Given the description of an element on the screen output the (x, y) to click on. 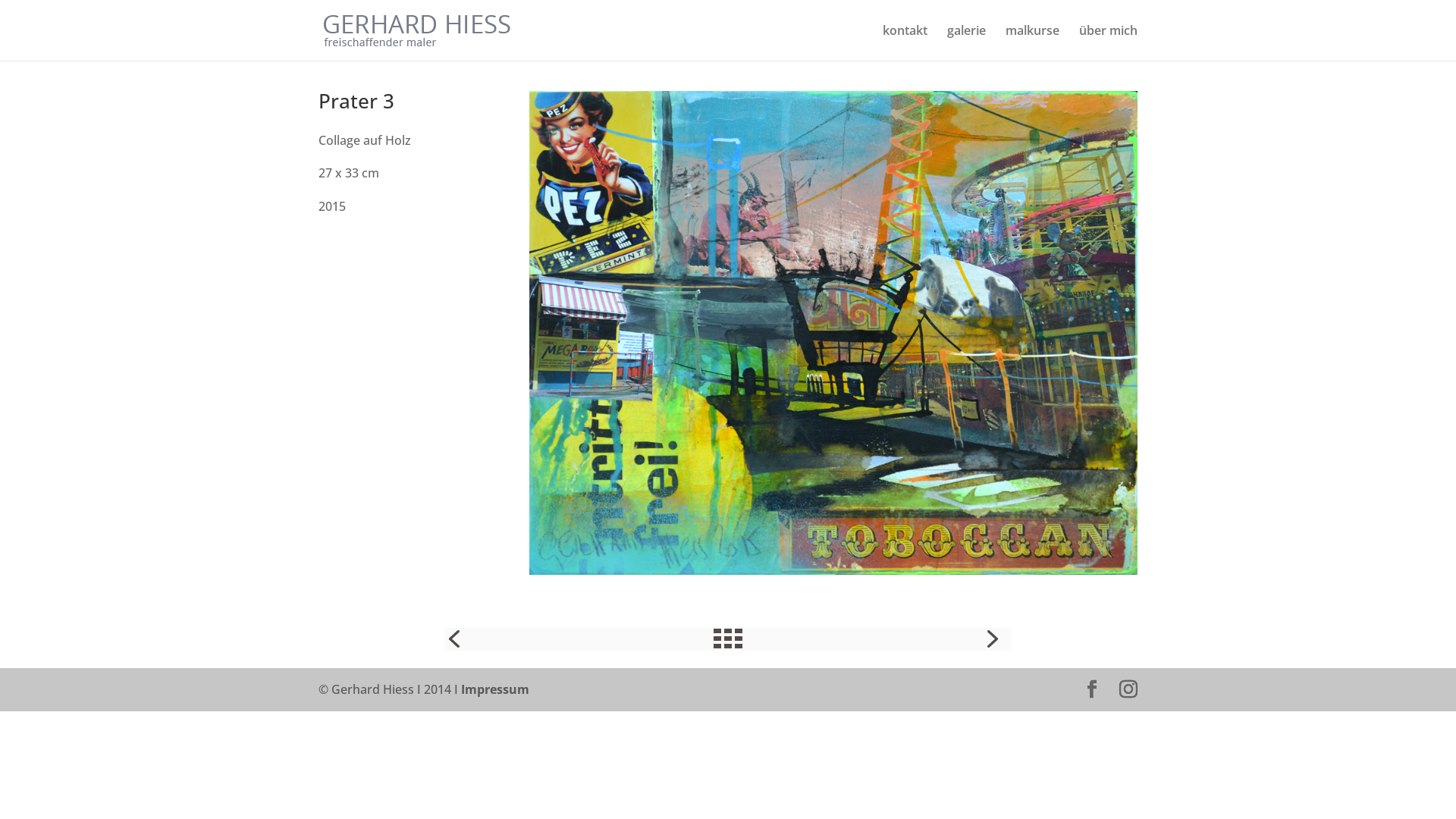
Impressum Element type: text (495, 688)
Prater 3 Element type: hover (833, 573)
Prater 3 Element type: hover (833, 332)
galerie Element type: text (966, 42)
malkurse Element type: text (1032, 42)
kontakt Element type: text (904, 42)
